Given the description of an element on the screen output the (x, y) to click on. 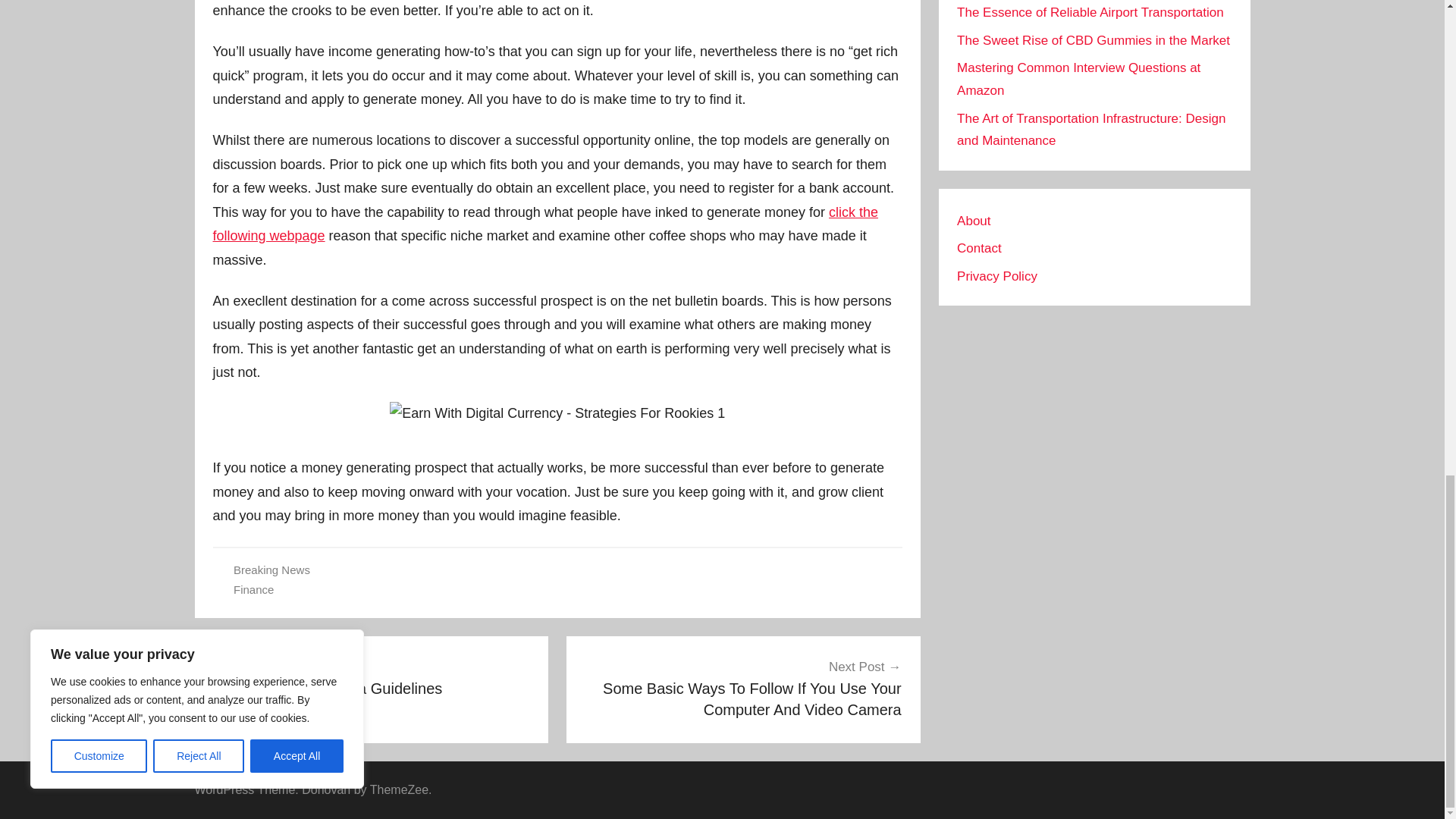
click the following webpage (544, 224)
Breaking News (271, 569)
Finance (371, 678)
